Given the description of an element on the screen output the (x, y) to click on. 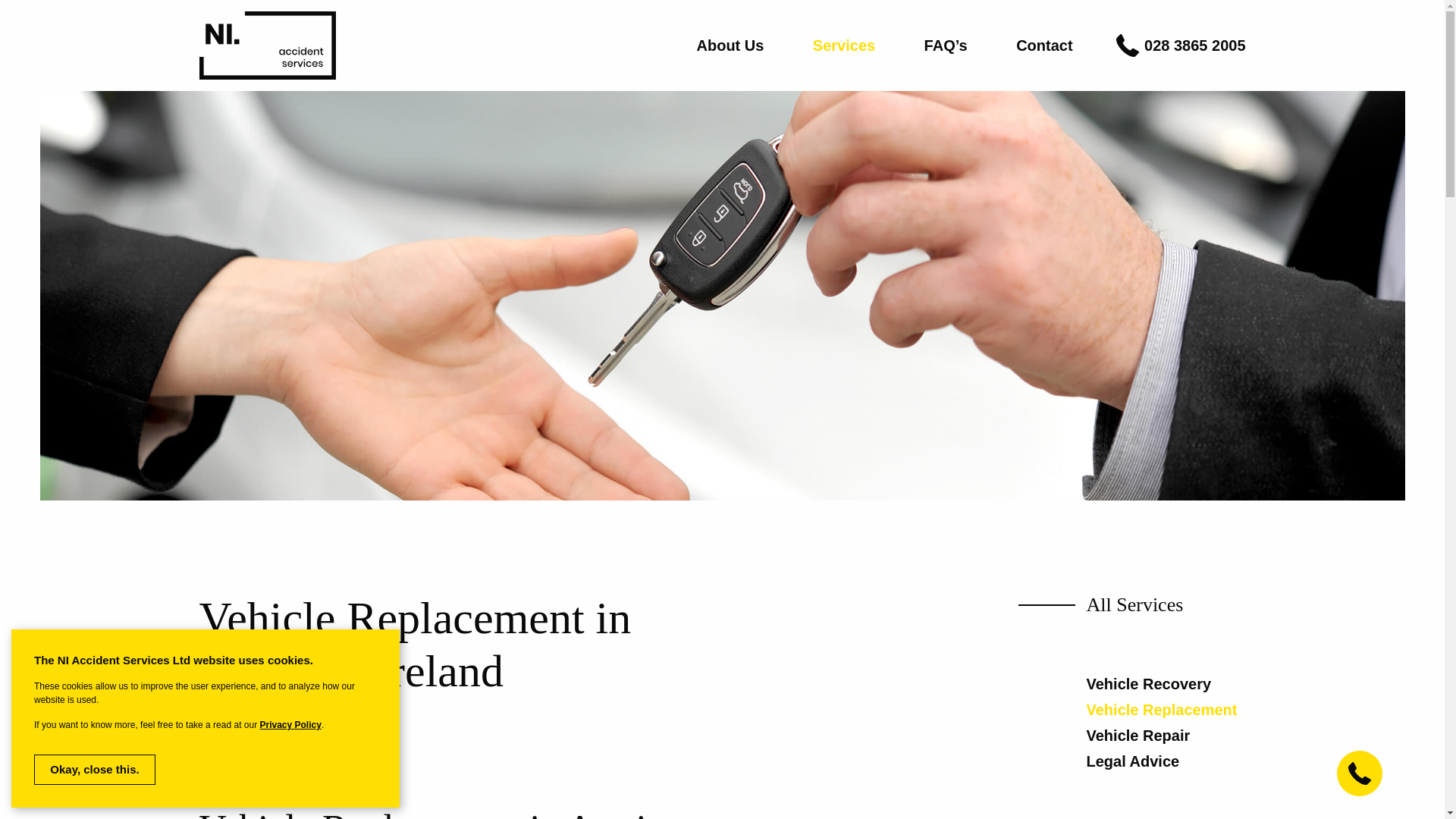
Vehicle Repair (1137, 735)
NI Accident Services Ltd (266, 45)
Contact (1043, 45)
About Us (730, 45)
Vehicle Replacement (1161, 709)
Vehicle Recovery (1148, 683)
Legal Advice (1132, 760)
Privacy Policy (289, 724)
028 3865 2005 (1194, 45)
Okay, close this. (94, 769)
Services (843, 45)
